Given the description of an element on the screen output the (x, y) to click on. 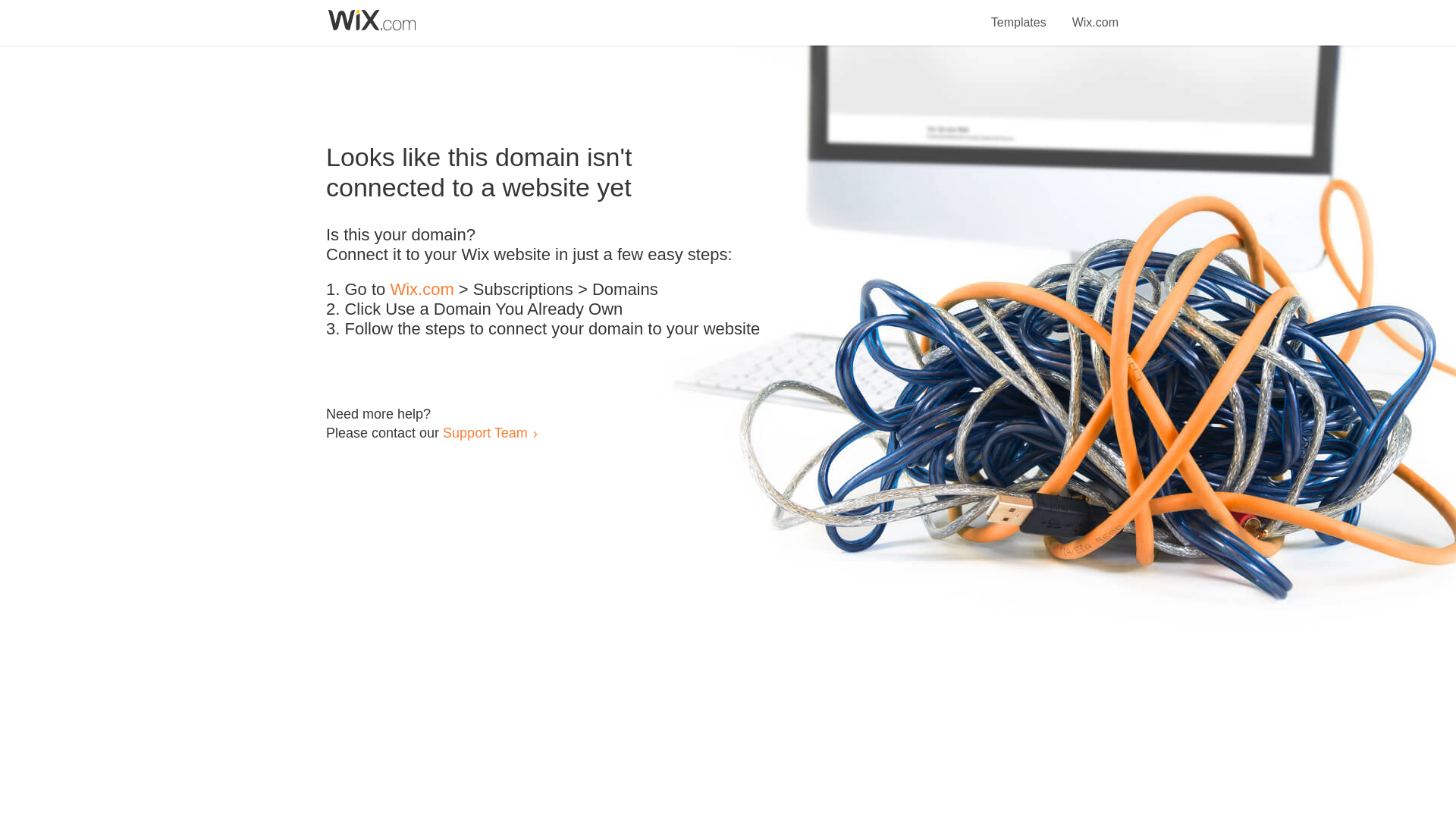
Templates (1018, 14)
Wix.com (1095, 14)
Wix.com (421, 289)
Support Team (484, 432)
